Given the description of an element on the screen output the (x, y) to click on. 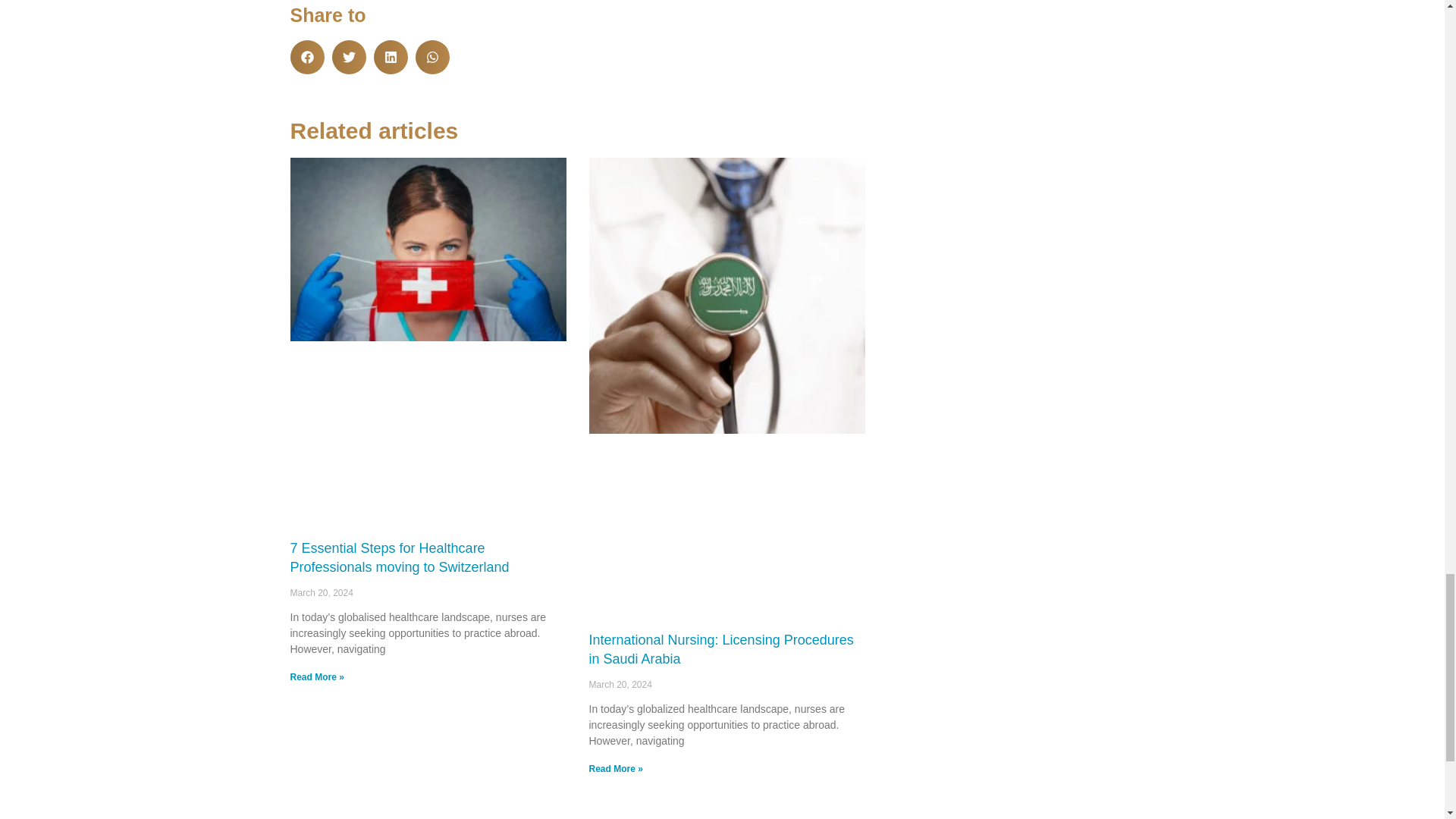
International Nursing: Licensing Procedures in Saudi Arabia (720, 649)
